Given the description of an element on the screen output the (x, y) to click on. 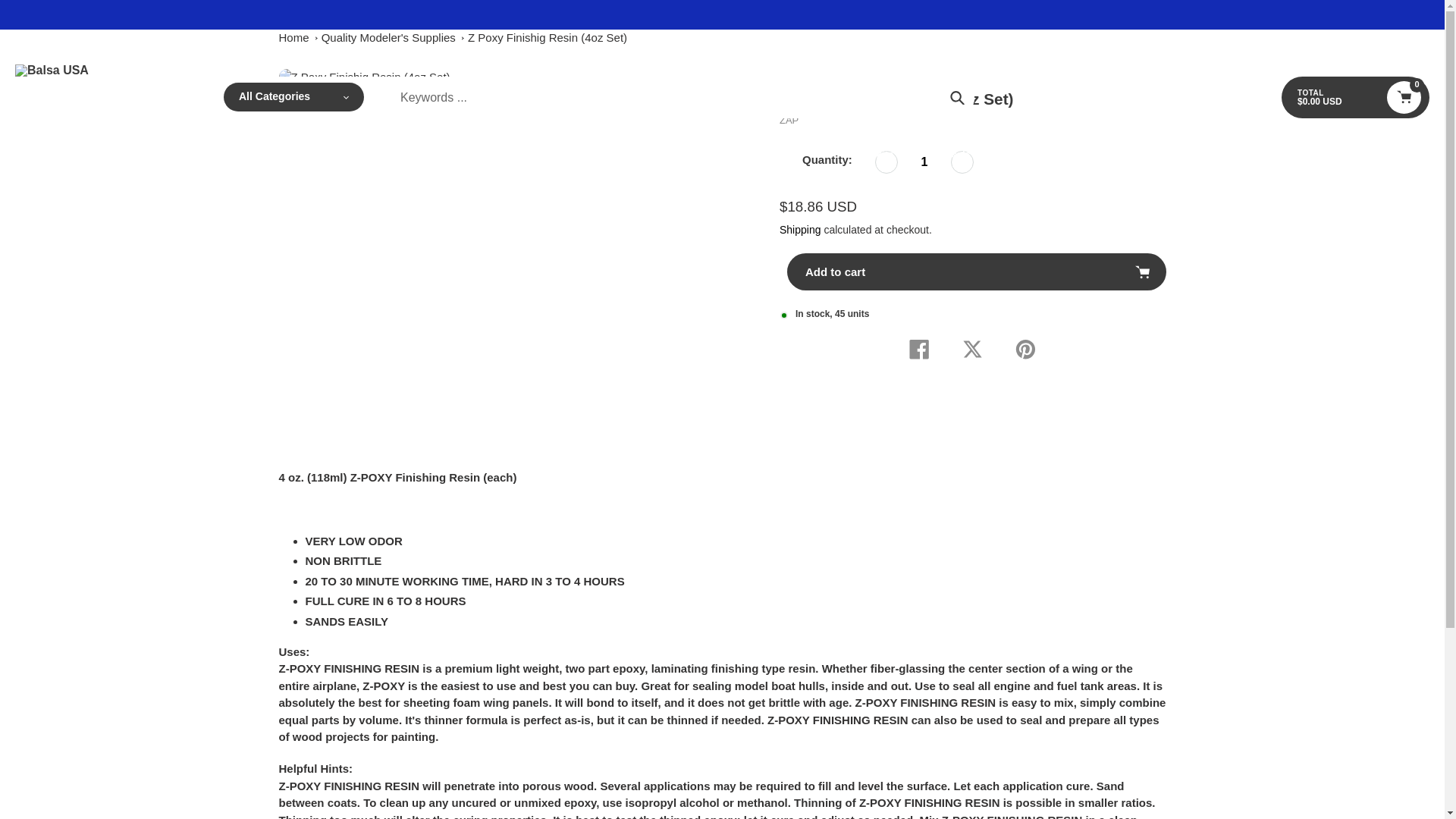
ZAP (787, 120)
18002257287 (178, 46)
My Account (1390, 46)
1 (924, 161)
All Categories (294, 96)
